Given the description of an element on the screen output the (x, y) to click on. 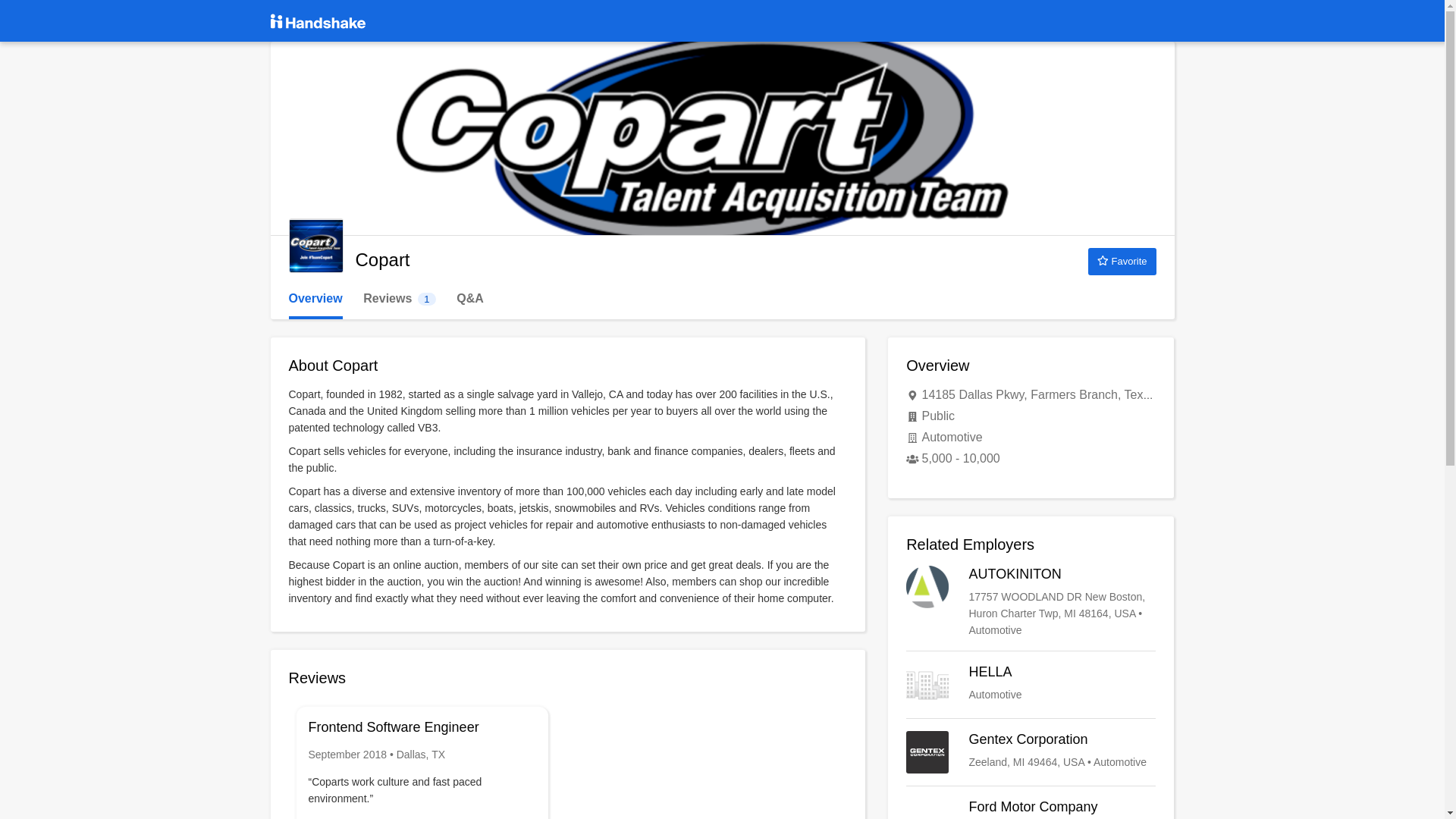
HELLA (1030, 684)
AUTOKINITON (1030, 601)
Copart (315, 245)
Ford Motor Company (1030, 808)
Gentex Corporation (398, 298)
Favorite (1030, 684)
Overview (1030, 752)
